Given the description of an element on the screen output the (x, y) to click on. 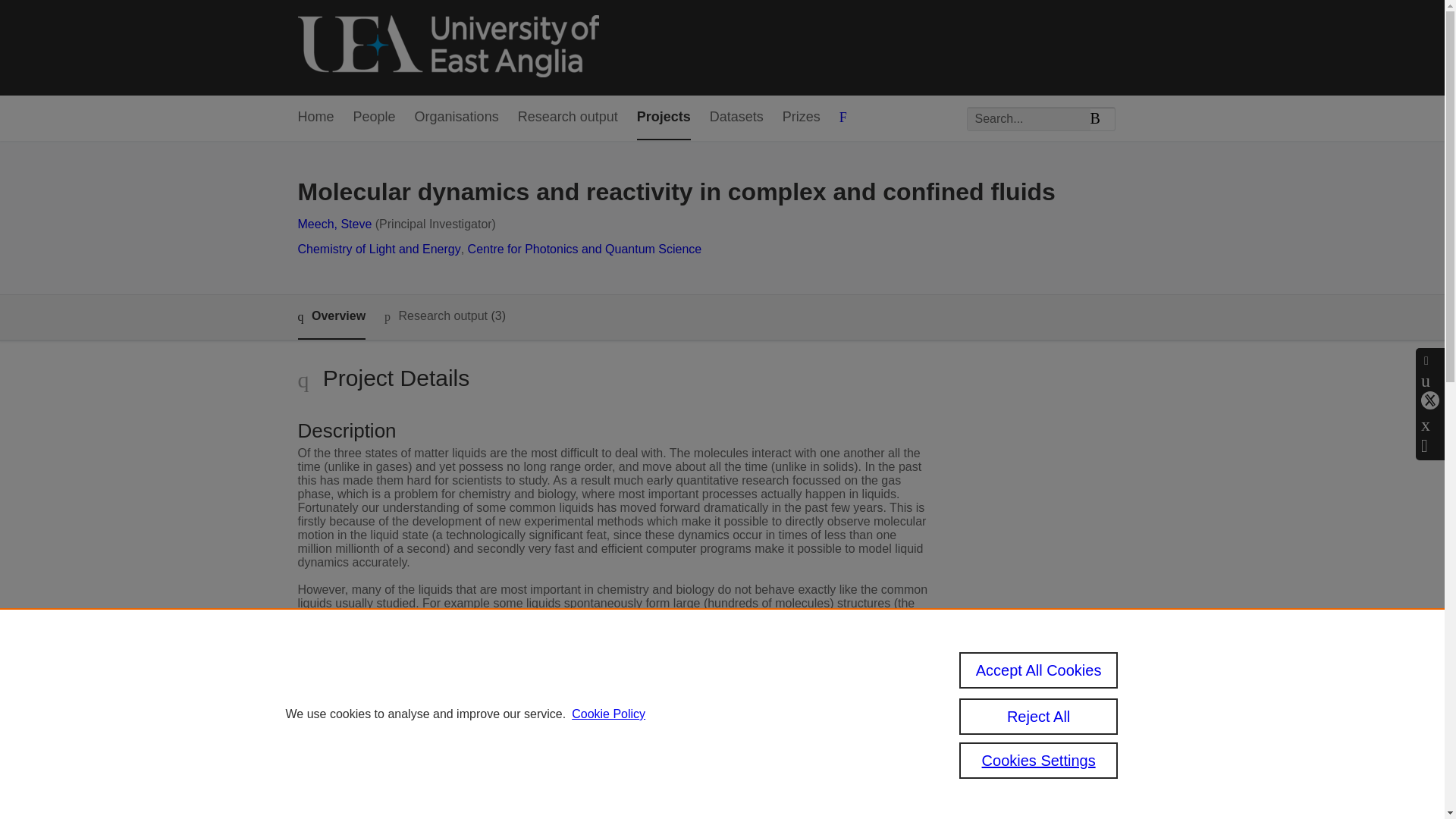
Projects (663, 117)
Overview (331, 316)
University of East Anglia Home (447, 47)
Centre for Photonics and Quantum Science (584, 248)
Meech, Steve (334, 223)
People (374, 117)
Organisations (456, 117)
Research output (567, 117)
Chemistry of Light and Energy (378, 248)
